Given the description of an element on the screen output the (x, y) to click on. 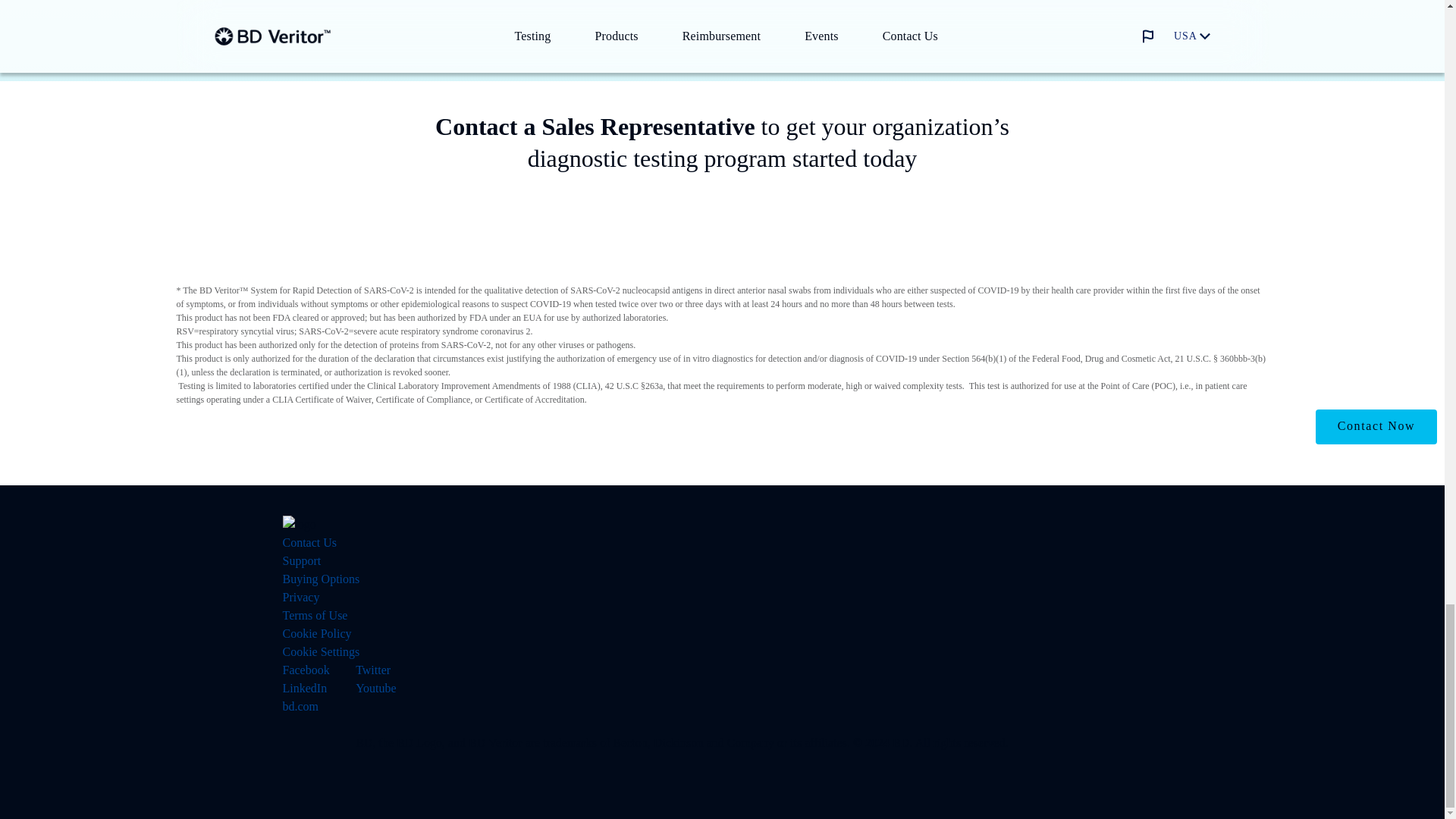
Facebook (305, 669)
bd.com (300, 706)
Twitter (372, 669)
Cookie Policy (316, 633)
LinkedIn (304, 687)
Support (301, 560)
Terms of Use (314, 615)
Cookie Settings (320, 651)
Buying Options (320, 578)
Contact Us (309, 542)
